Given the description of an element on the screen output the (x, y) to click on. 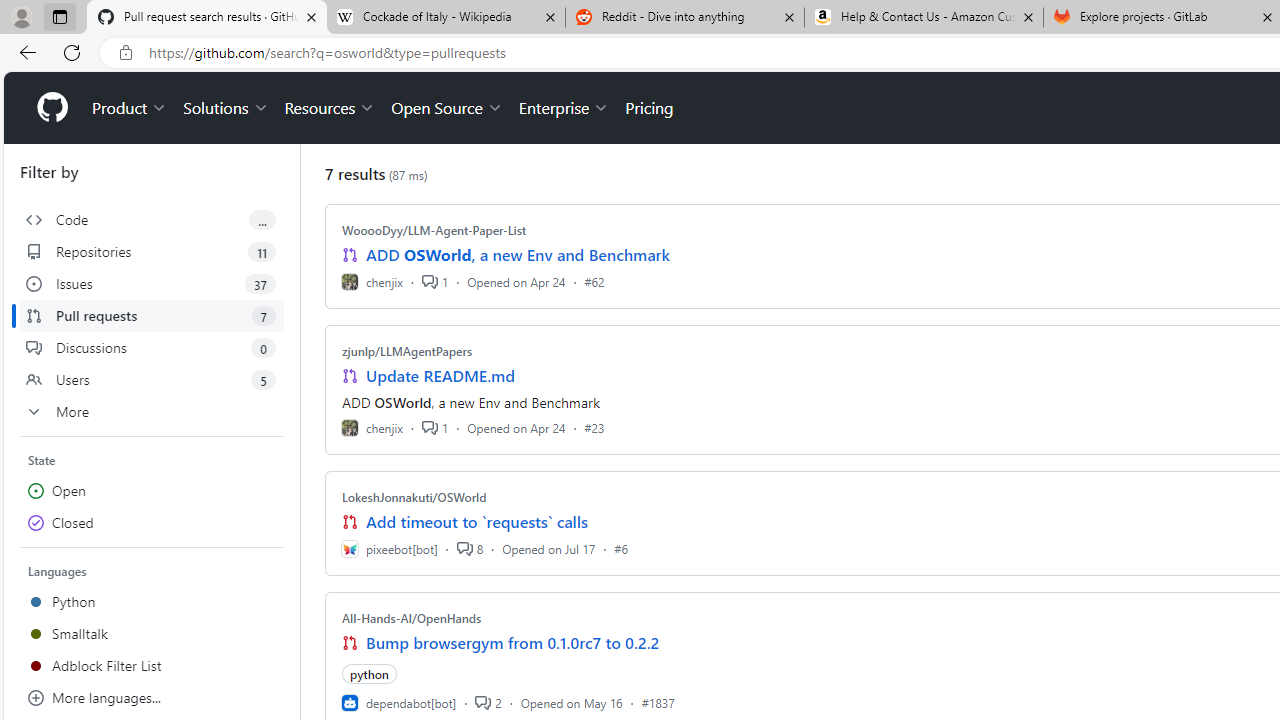
All-Hands-AI/OpenHands (411, 618)
dependabot[bot] (398, 702)
Enterprise (563, 107)
2 (487, 702)
Solutions (225, 107)
LokeshJonnakuti/OSWorld (413, 497)
#62 (594, 281)
#23 (594, 427)
